Given the description of an element on the screen output the (x, y) to click on. 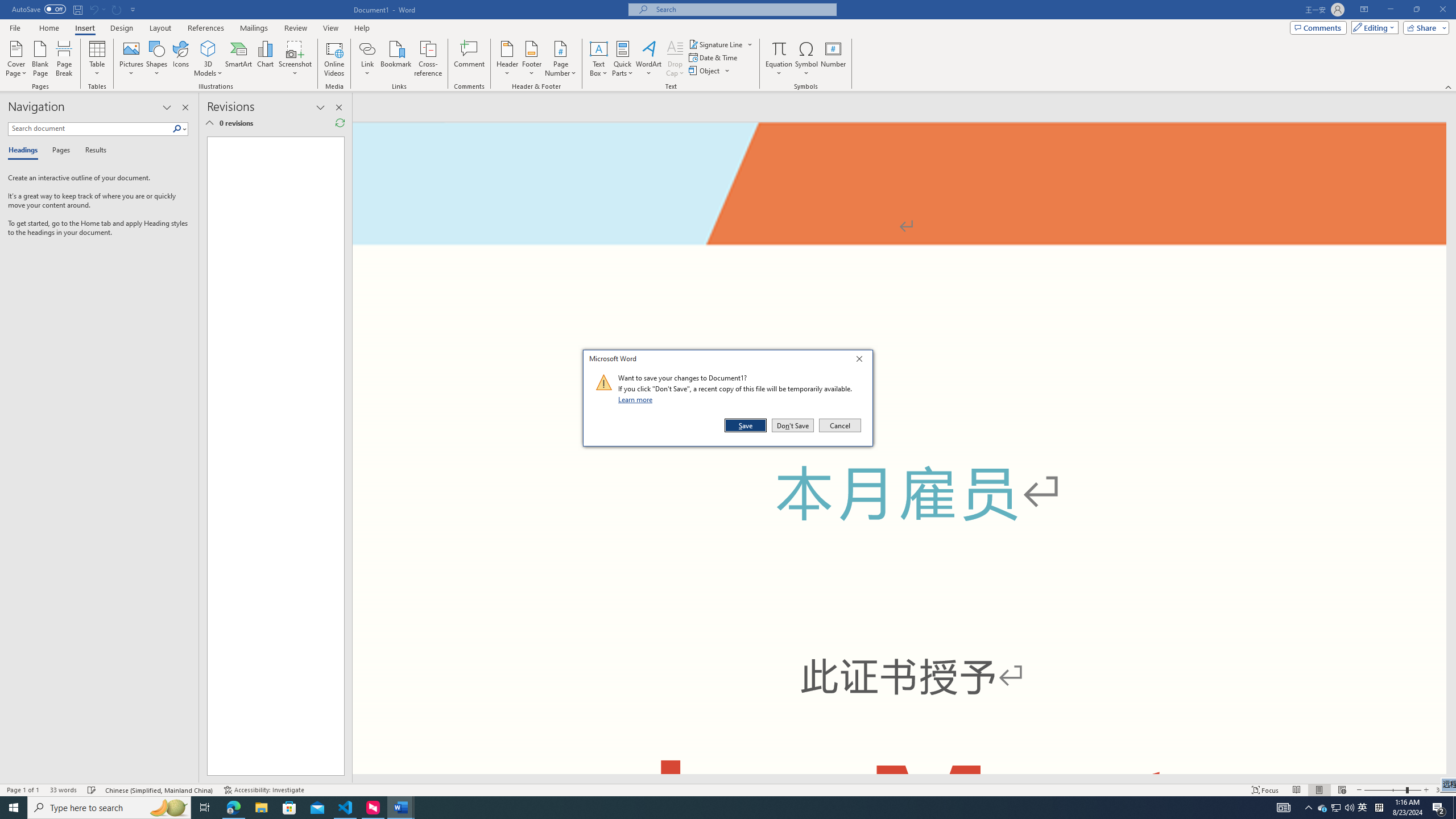
Q2790: 100% (1349, 807)
Class: MsoCommandBar (728, 789)
3D Models (208, 58)
Running applications (700, 807)
